Given the description of an element on the screen output the (x, y) to click on. 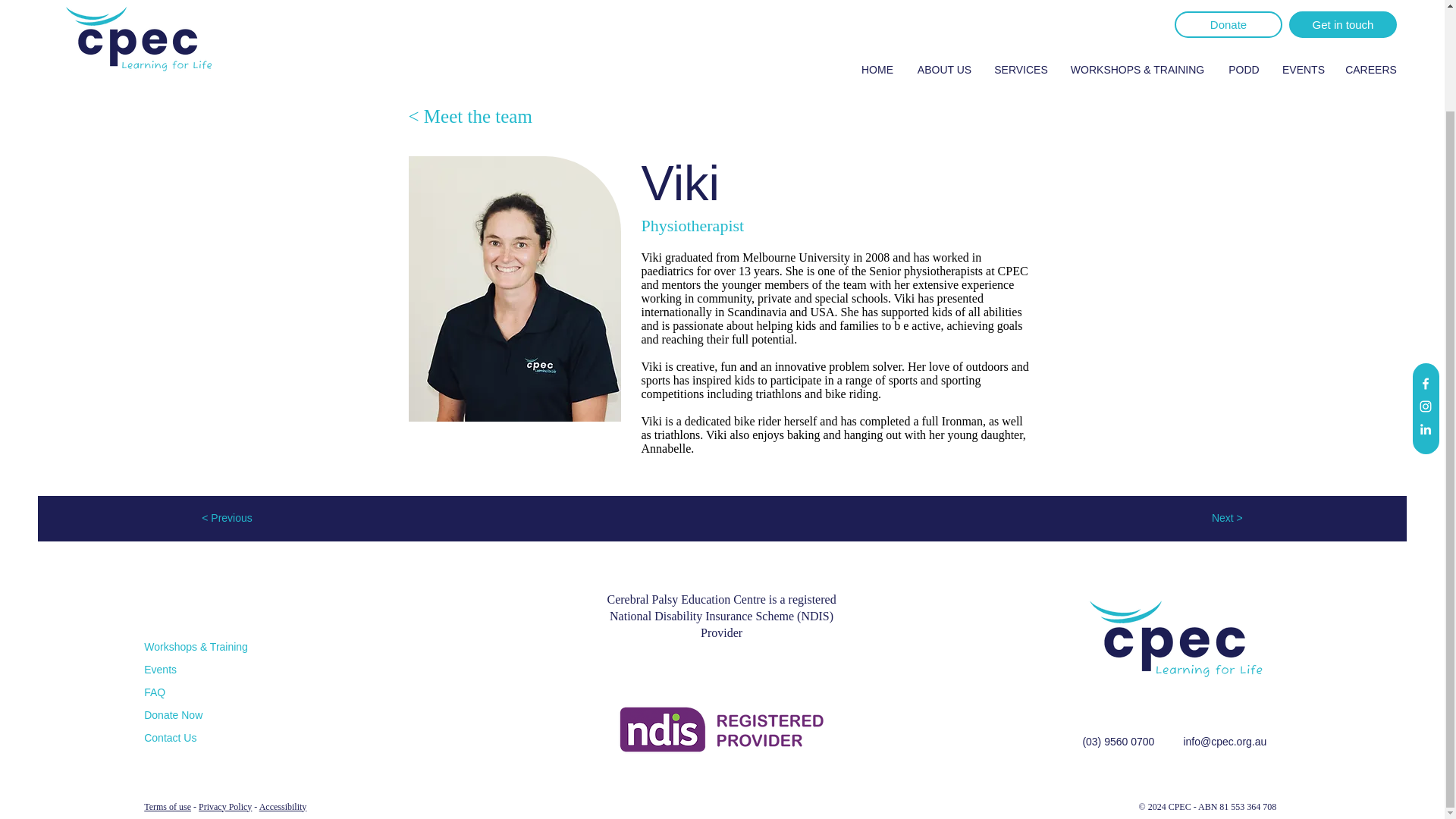
SERVICES (1021, 27)
PODD (1243, 27)
Get in touch (1342, 1)
NDIS Registered Provider (721, 729)
HOME (876, 27)
Donate (1228, 1)
ABOUT US (944, 27)
CPEC (1177, 640)
